Given the description of an element on the screen output the (x, y) to click on. 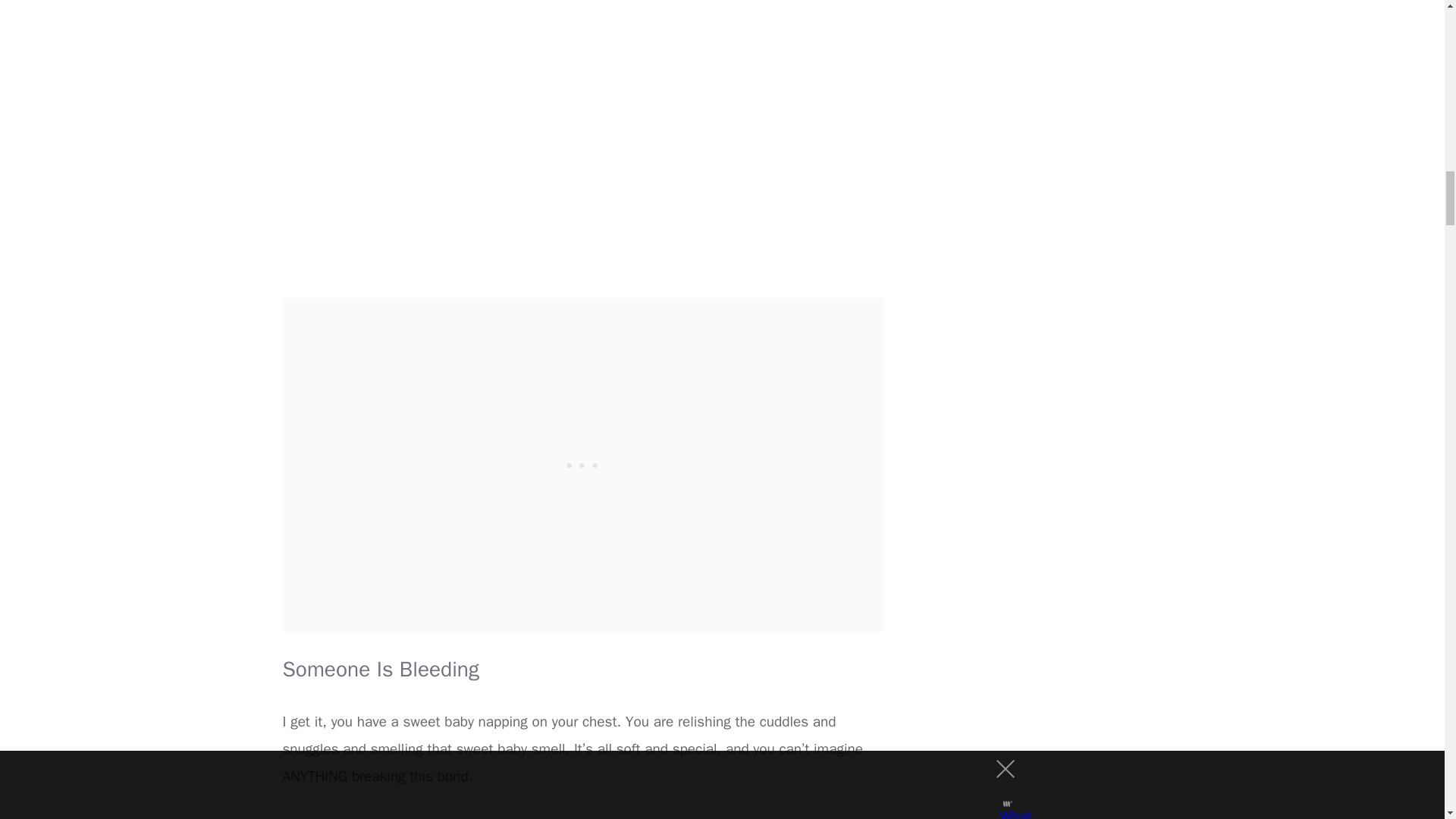
3rd party ad content (582, 815)
